Given the description of an element on the screen output the (x, y) to click on. 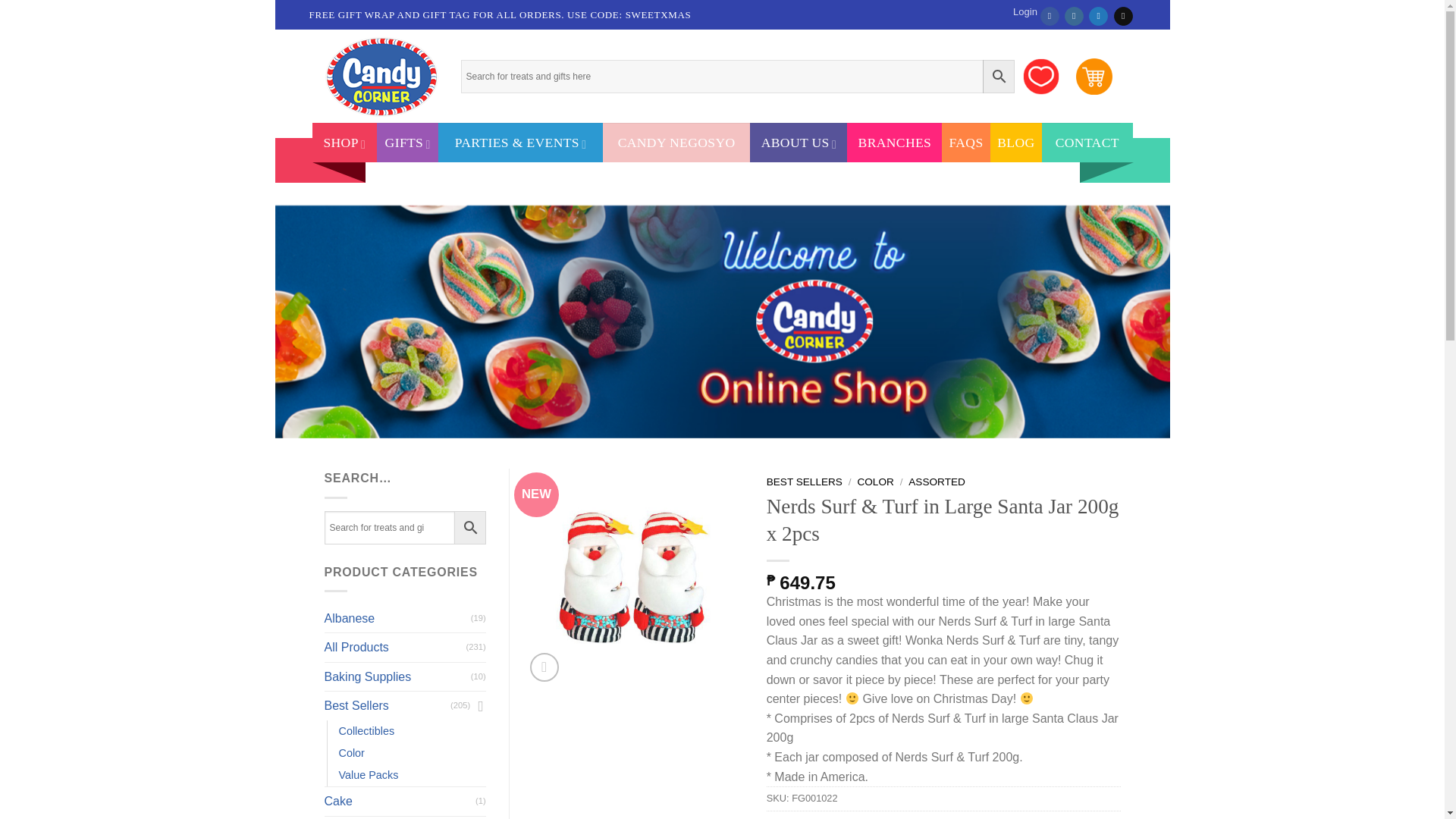
Wishlist (1040, 76)
SHOP (345, 142)
Follow on Facebook (1050, 15)
Login (1024, 12)
Cart (1094, 76)
Candy Corner - Bringing out your inner Candy Corner Kid (381, 76)
Follow on Twitter (1098, 15)
Follow on Instagram (1073, 15)
Send us an email (1122, 15)
Zoom (544, 667)
